Given the description of an element on the screen output the (x, y) to click on. 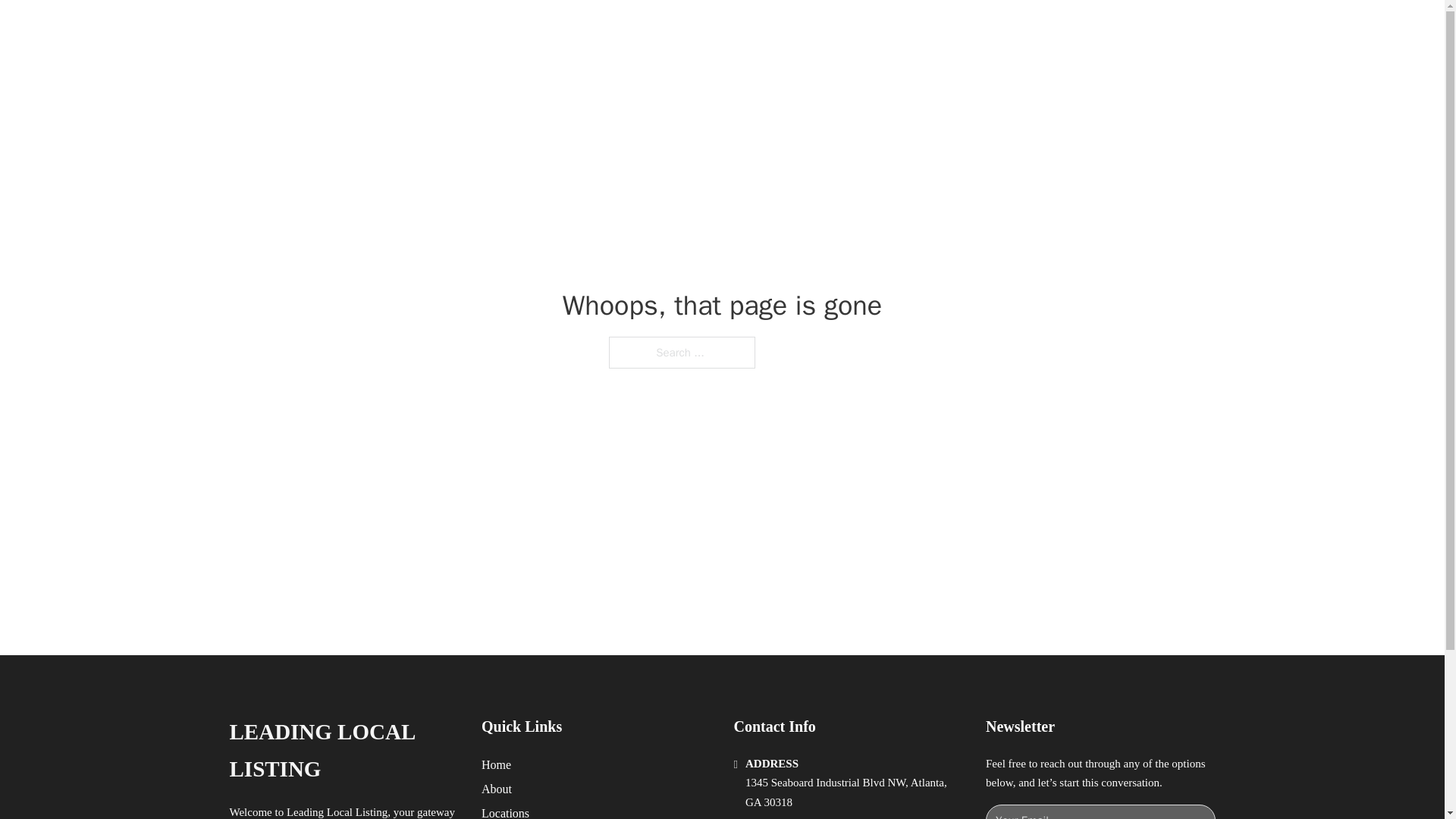
Locations (505, 811)
About (496, 788)
LEADING LOCAL LISTING (343, 750)
Home (496, 764)
LEADING LOCAL LISTING (430, 28)
